Given the description of an element on the screen output the (x, y) to click on. 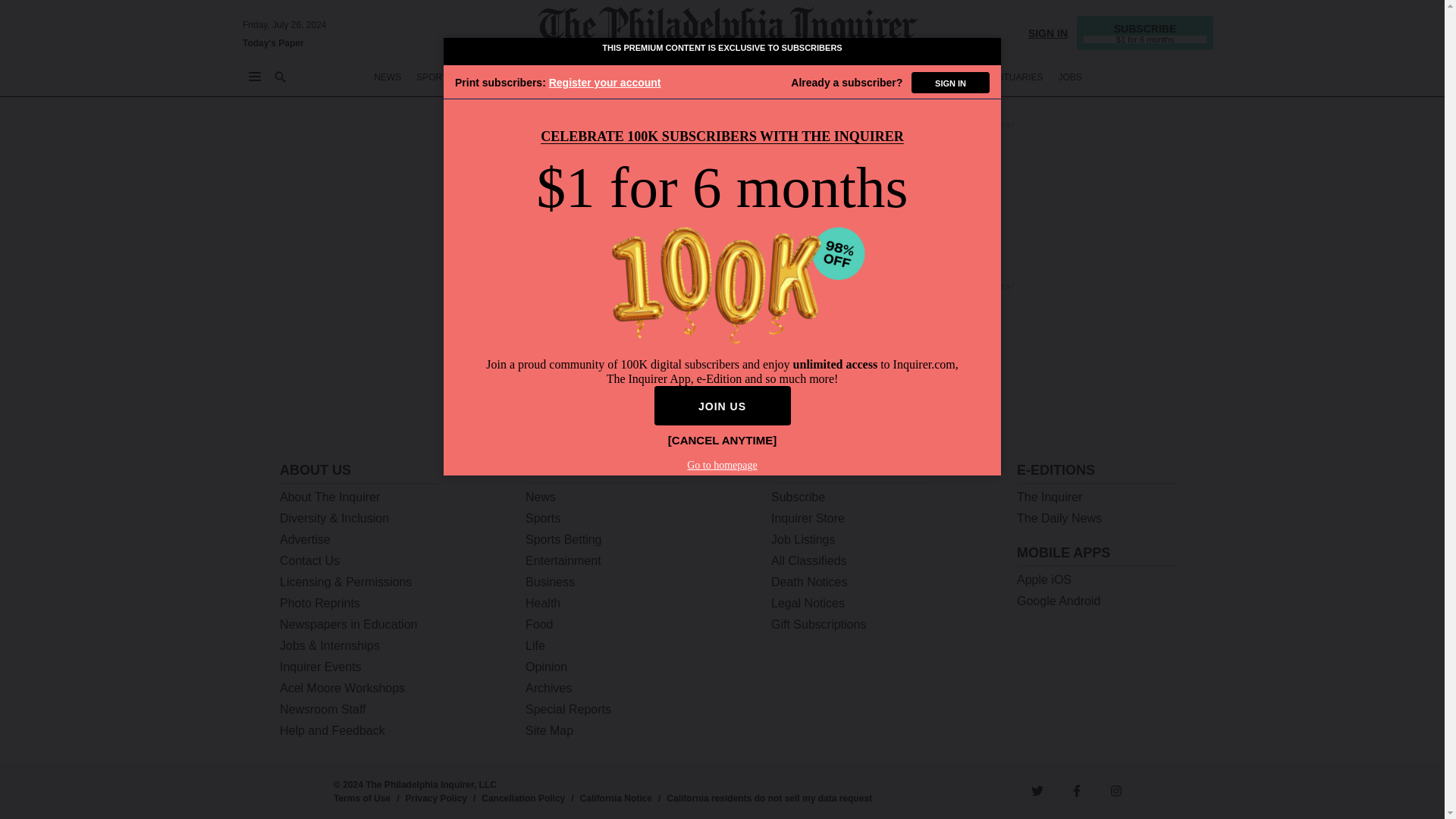
Twitter (1036, 790)
Instagram (1115, 790)
Facebook (1076, 790)
